Given the description of an element on the screen output the (x, y) to click on. 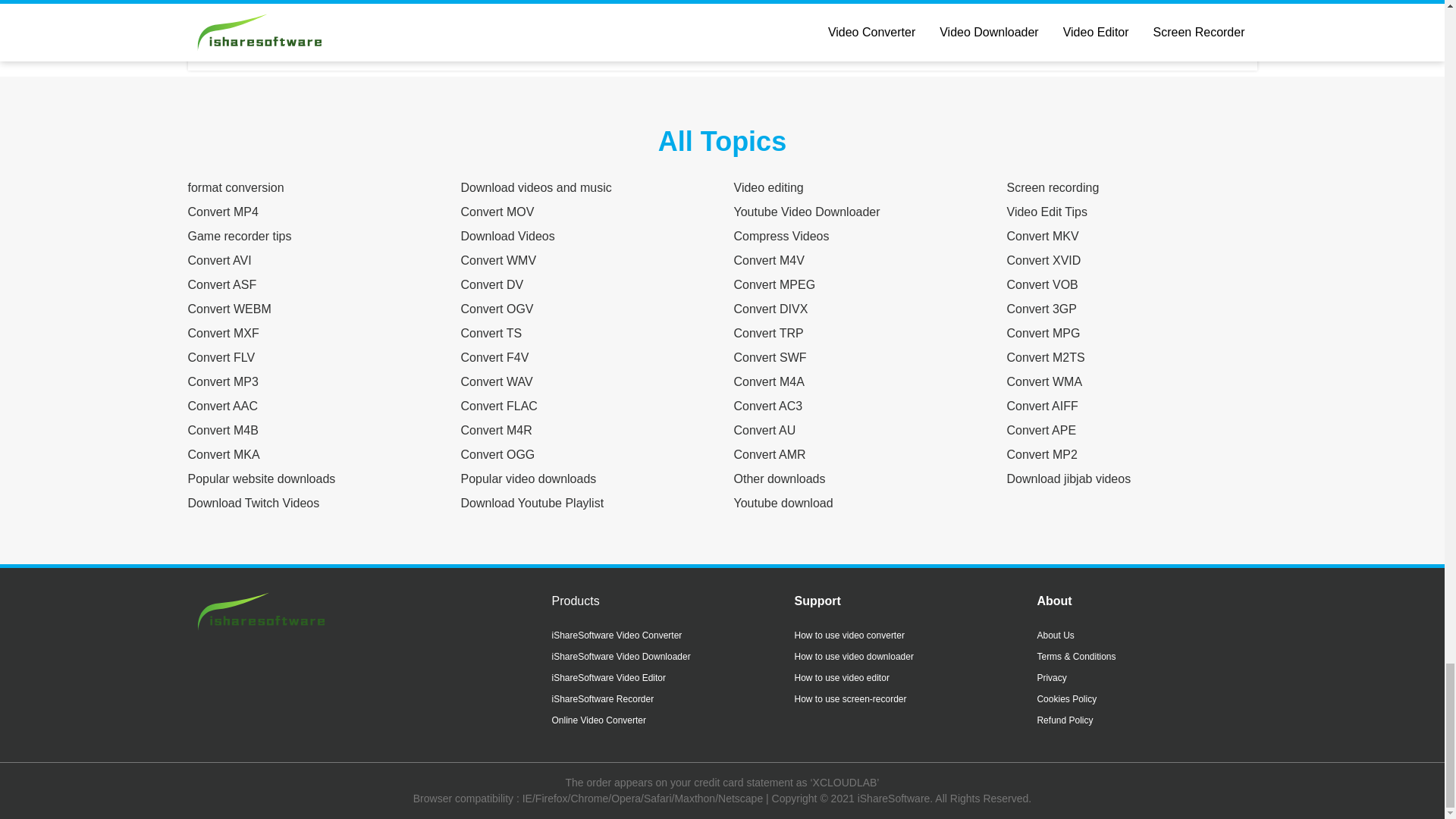
format conversion (235, 187)
Download Now (1077, 22)
